Given the description of an element on the screen output the (x, y) to click on. 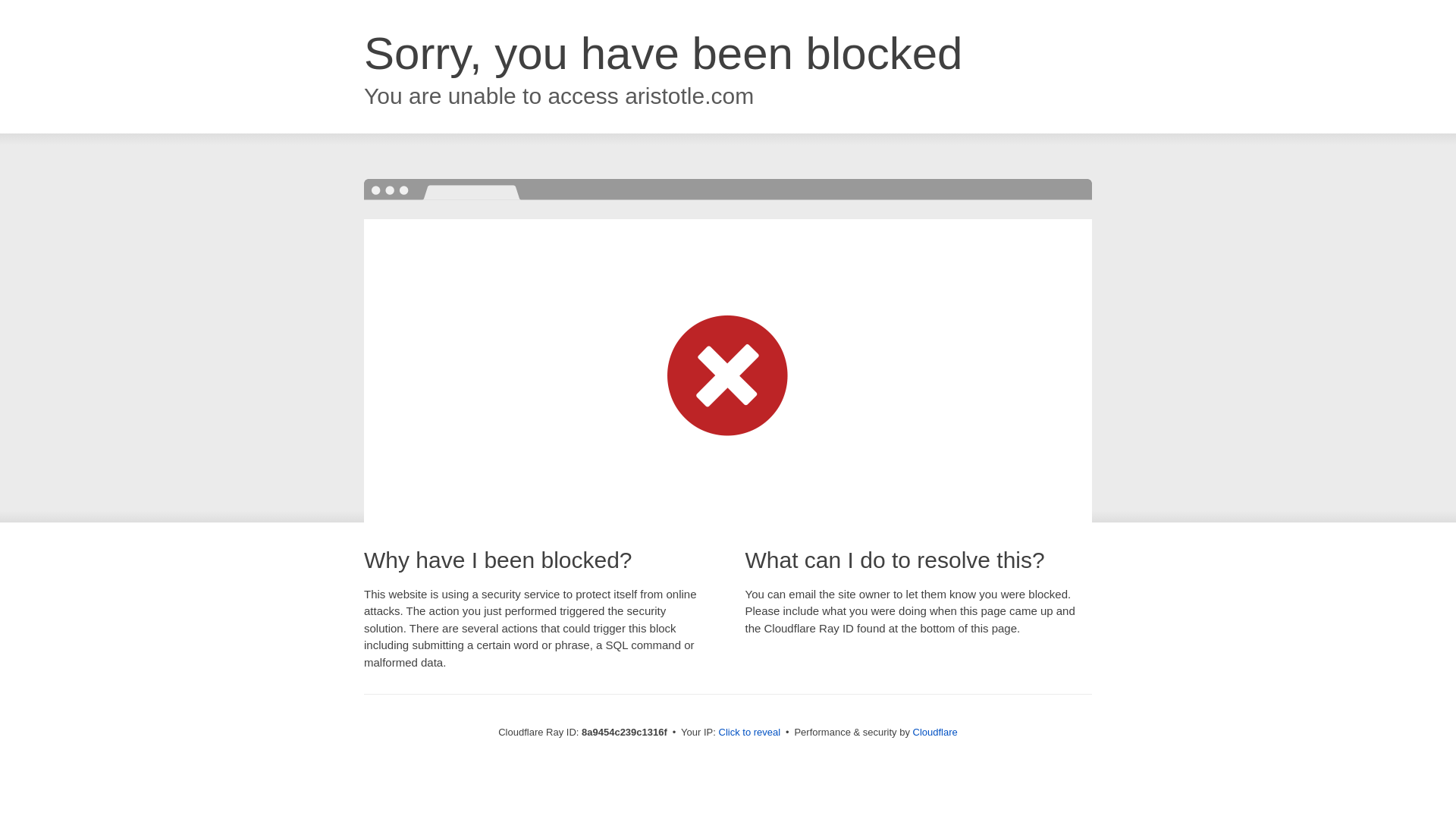
Click to reveal (749, 732)
Cloudflare (935, 731)
